Given the description of an element on the screen output the (x, y) to click on. 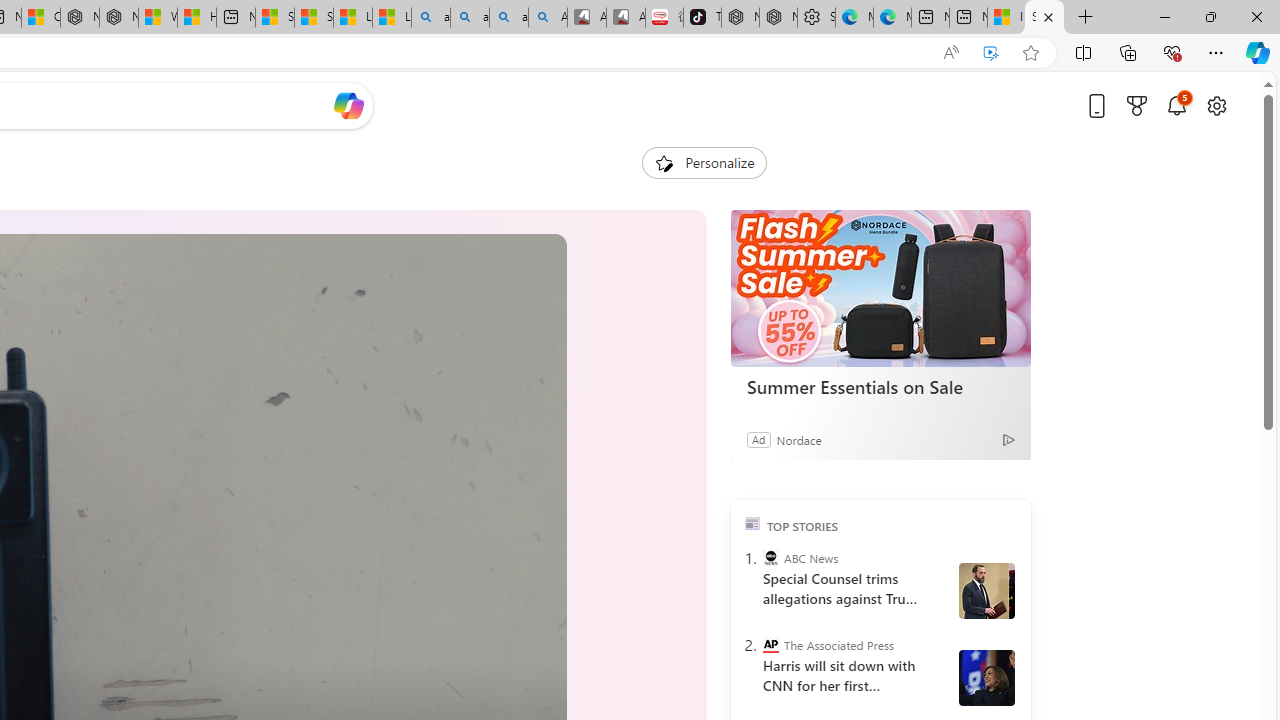
amazon - Search Images (509, 17)
Nordace Siena Pro 15 Backpack (778, 17)
The Associated Press (770, 645)
TikTok (701, 17)
